Given the description of an element on the screen output the (x, y) to click on. 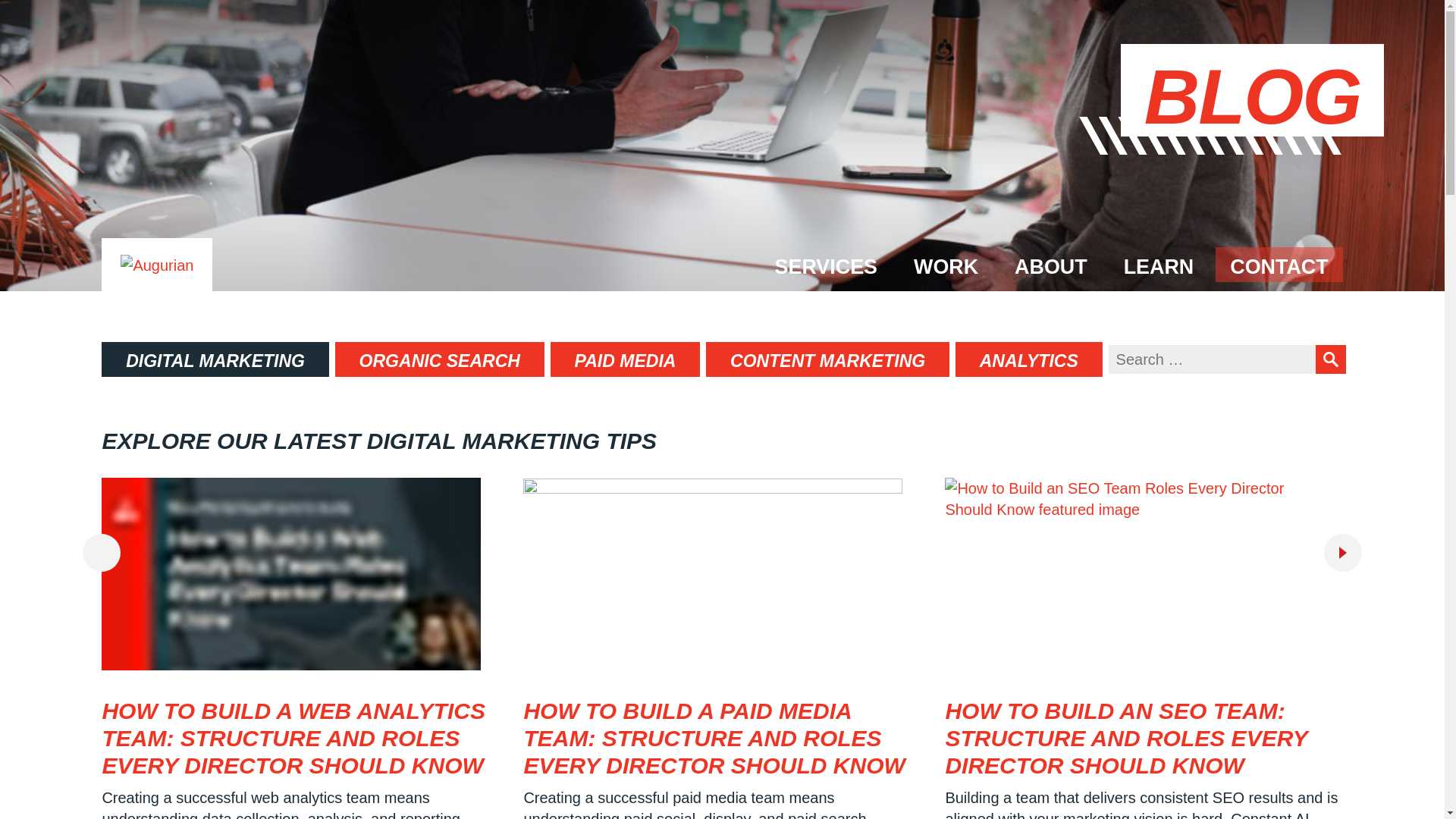
Search (1330, 358)
LEARN (1158, 264)
SERVICES (825, 264)
Search (1330, 358)
ABOUT (1051, 264)
WORK (945, 264)
